Given the description of an element on the screen output the (x, y) to click on. 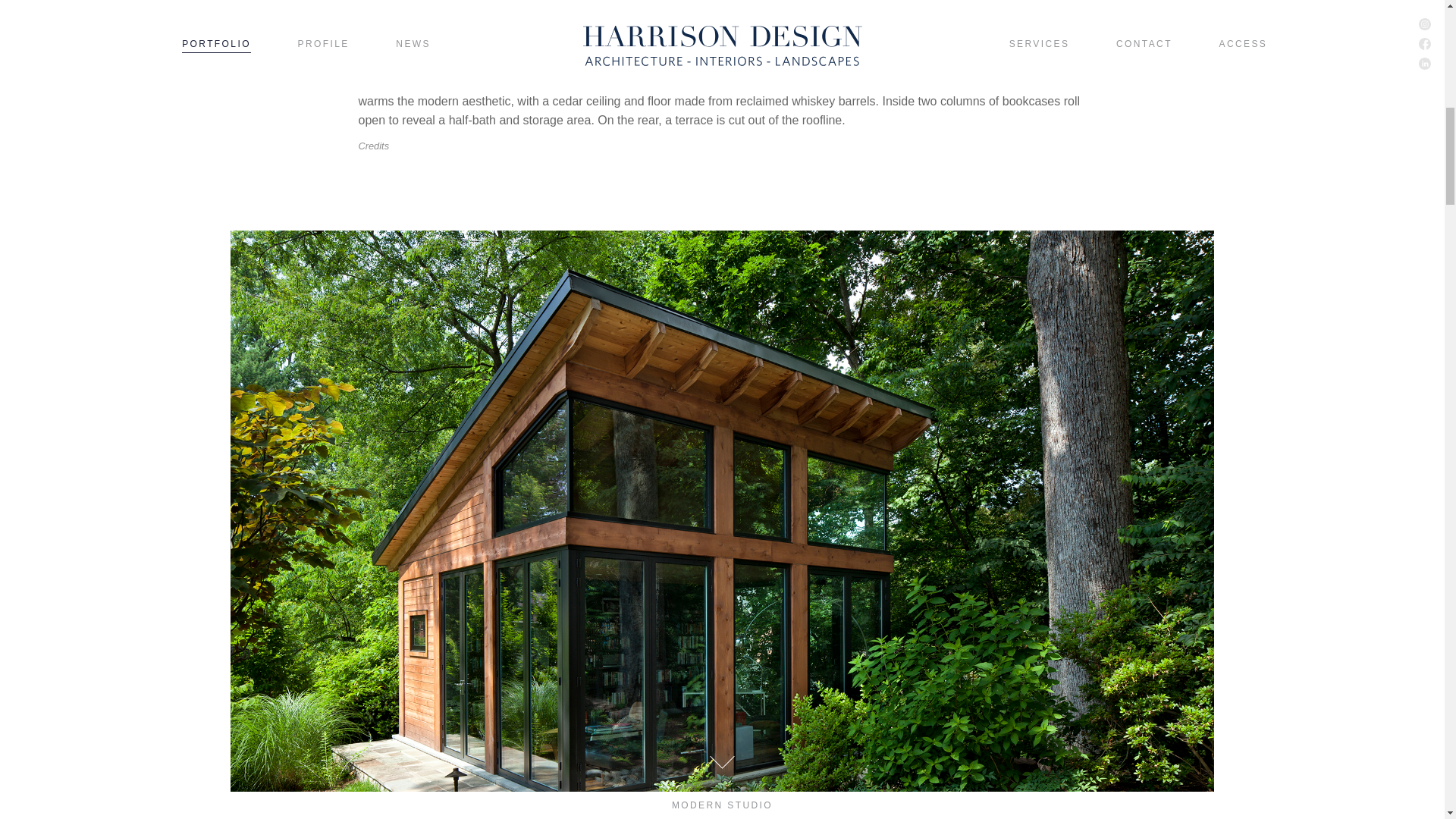
Credits (374, 145)
